Given the description of an element on the screen output the (x, y) to click on. 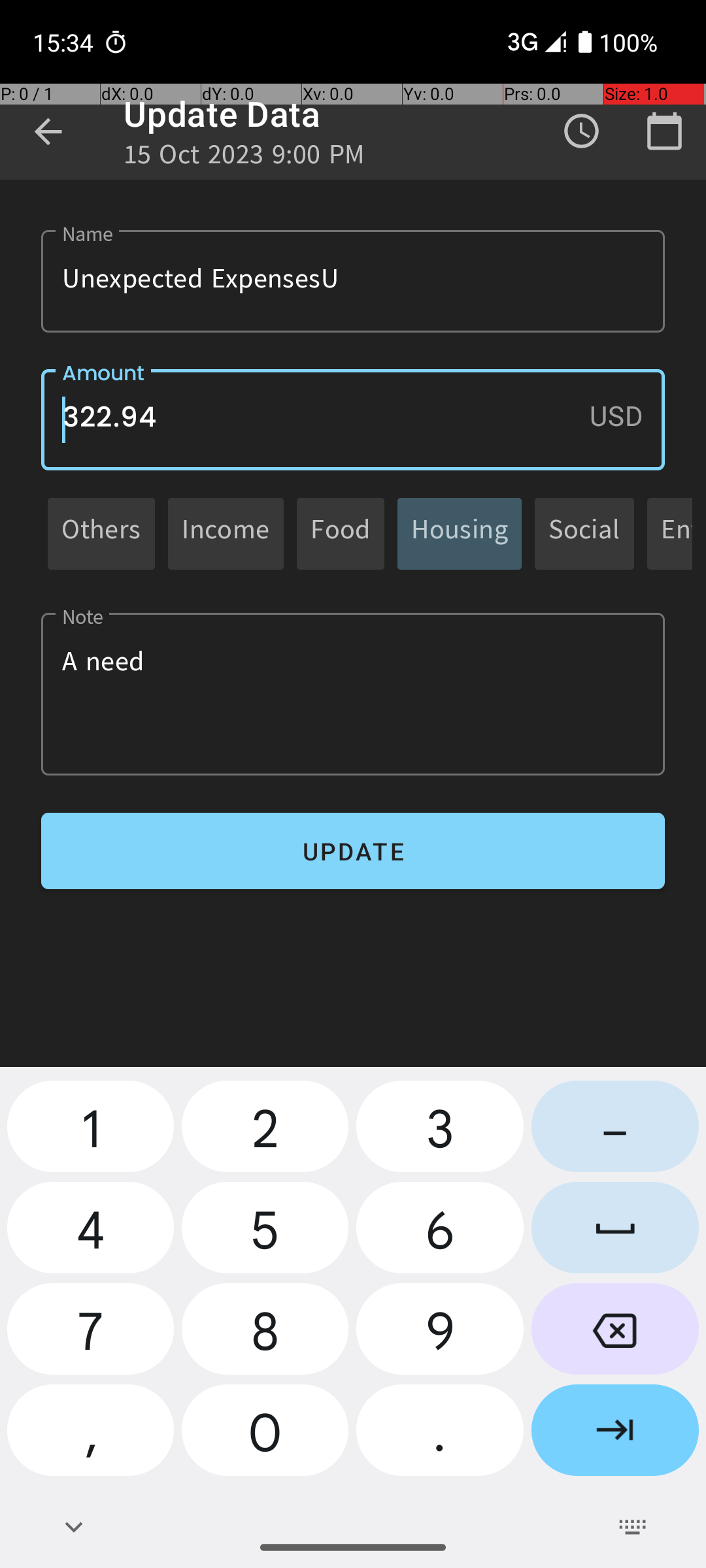
15 Oct 2023 9:00 PM Element type: android.widget.TextView (244, 157)
Unexpected ExpensesU Element type: android.widget.EditText (352, 280)
322.94 Element type: android.widget.EditText (352, 419)
Others Element type: android.widget.TextView (101, 533)
Dash Element type: android.widget.FrameLayout (614, 1130)
Next Element type: android.widget.FrameLayout (614, 1434)
